Given the description of an element on the screen output the (x, y) to click on. 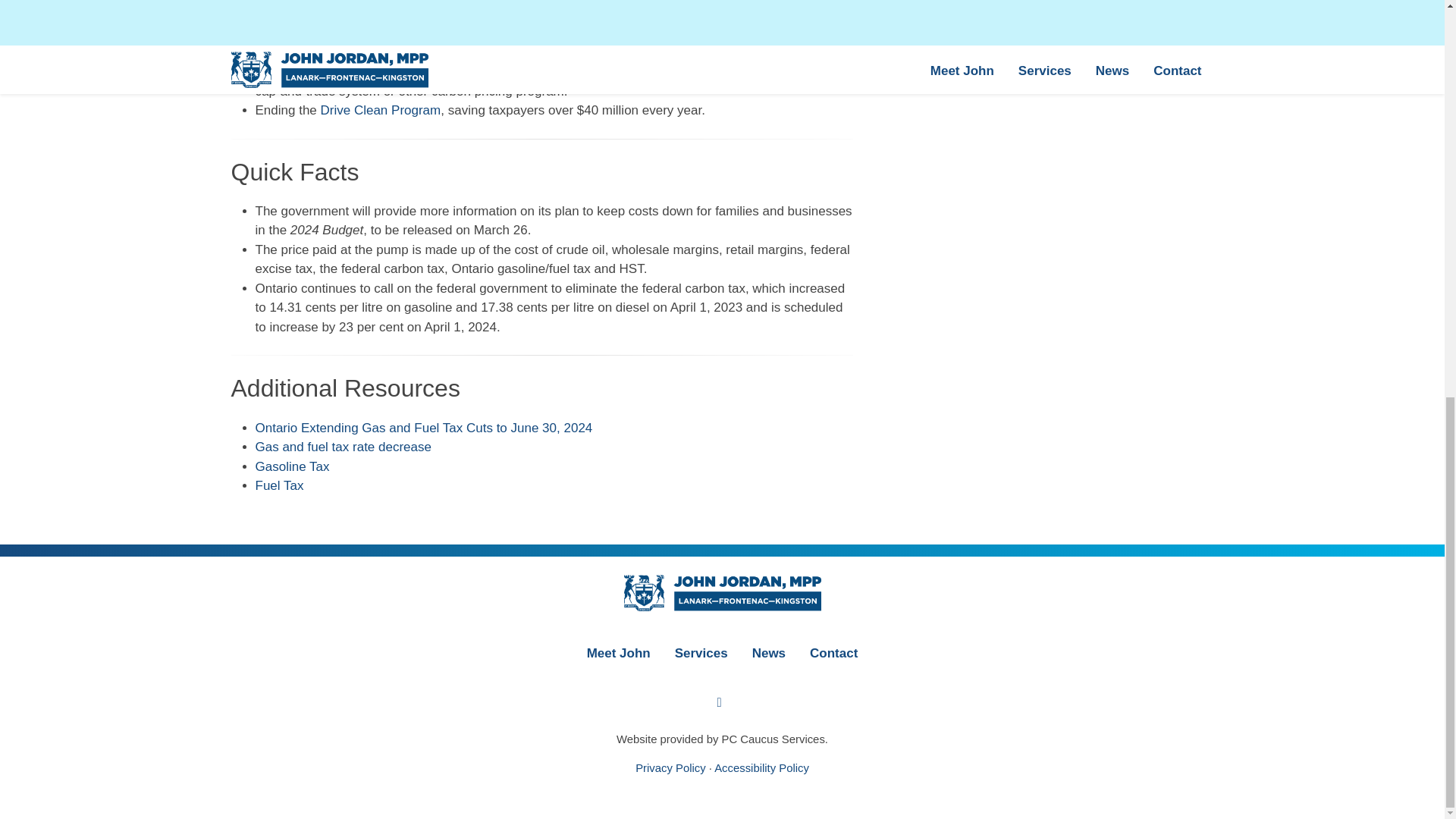
legislation (350, 71)
Fuel Tax (278, 485)
Gas and fuel tax rate decrease (342, 446)
Services (700, 652)
Gasoline Tax (291, 466)
Contact (833, 652)
Accessibility Policy (761, 767)
Privacy Policy (669, 767)
One Fare, (347, 32)
Ontario Extending Gas and Fuel Tax Cuts to June 30, 2024 (423, 427)
News (768, 652)
Drive Clean Program (380, 110)
Meet John (618, 652)
